Given the description of an element on the screen output the (x, y) to click on. 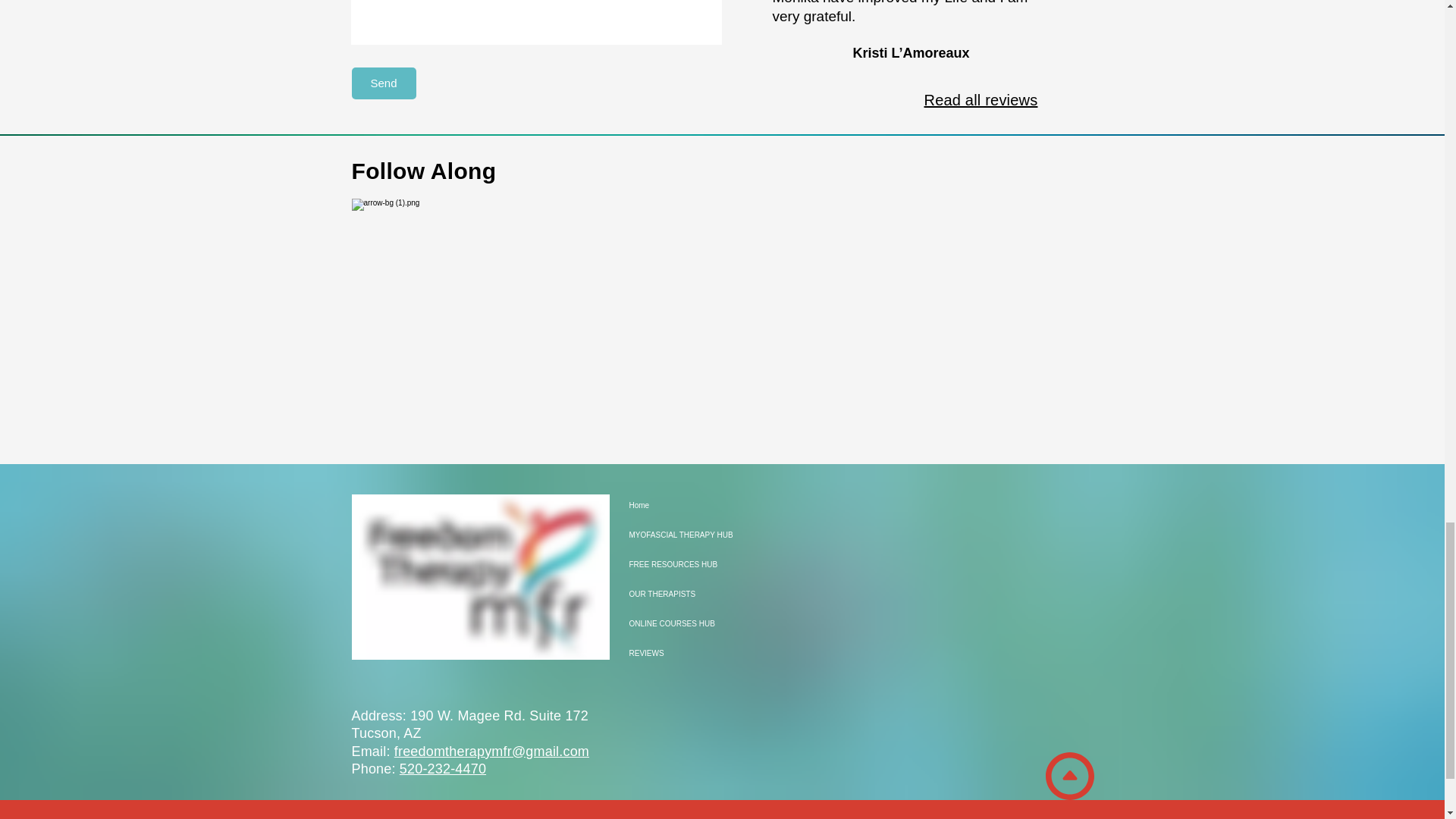
Home (682, 505)
Send (384, 83)
FREE RESOURCES HUB (682, 564)
MYOFASCIAL THERAPY HUB (682, 534)
REVIEWS (682, 653)
Read all reviews (979, 99)
ONLINE COURSES HUB (682, 623)
OUR THERAPISTS (682, 594)
